Given the description of an element on the screen output the (x, y) to click on. 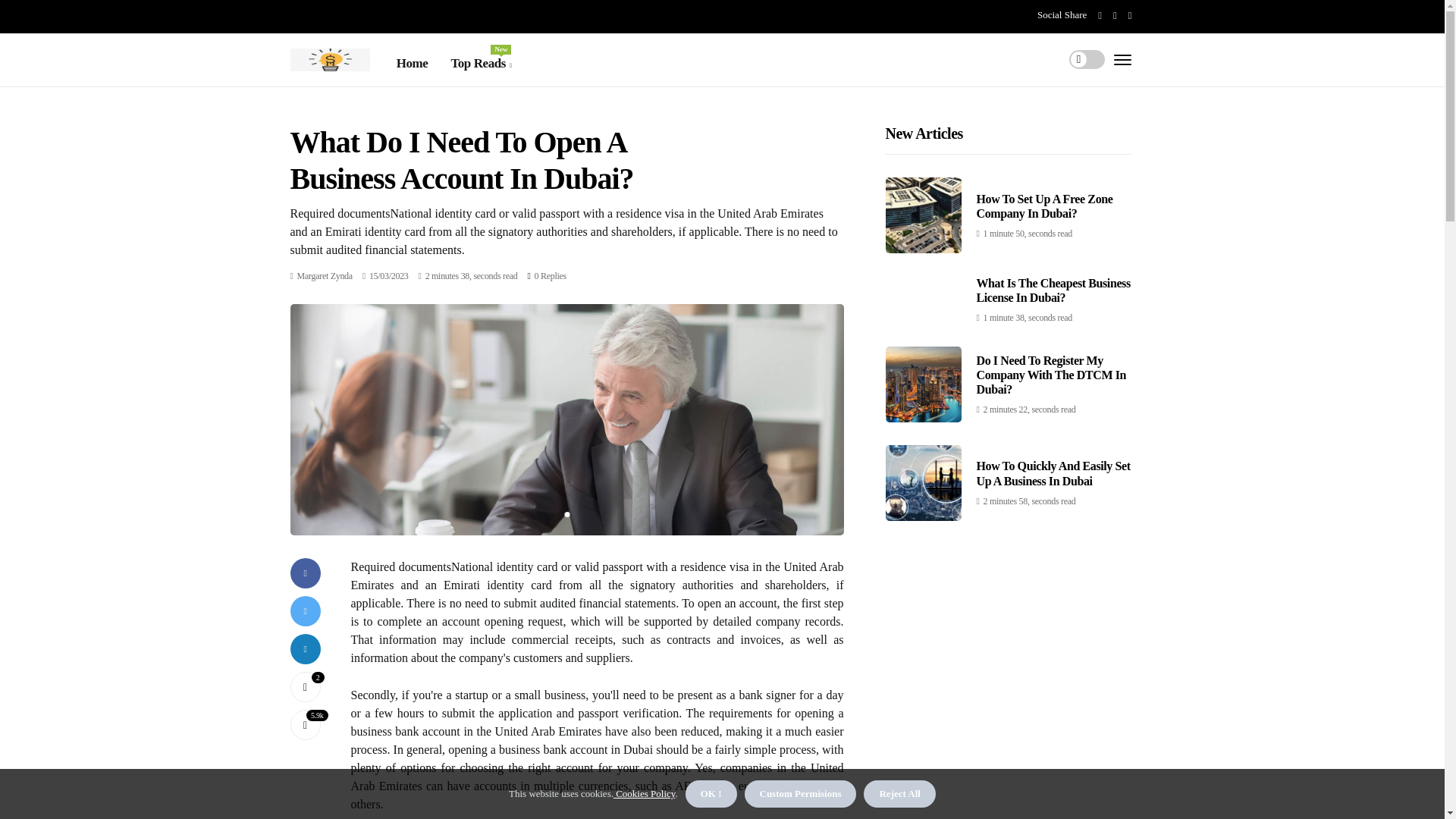
1 (480, 63)
0 Replies (304, 686)
Margaret Zynda (550, 276)
2 (324, 276)
Posts by Margaret Zynda (304, 686)
